Given the description of an element on the screen output the (x, y) to click on. 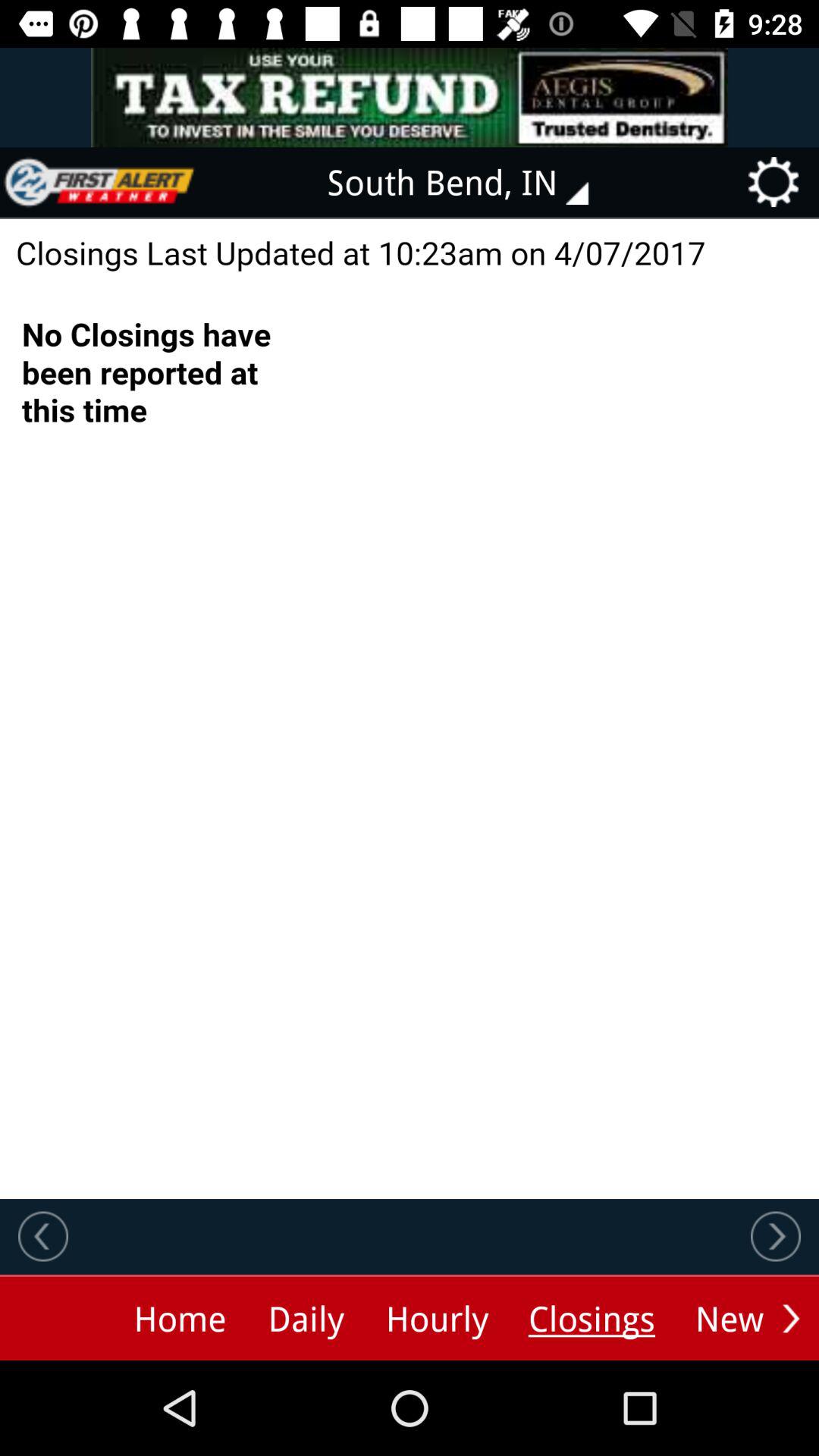
tap icon to the left of south bend, in (99, 182)
